Given the description of an element on the screen output the (x, y) to click on. 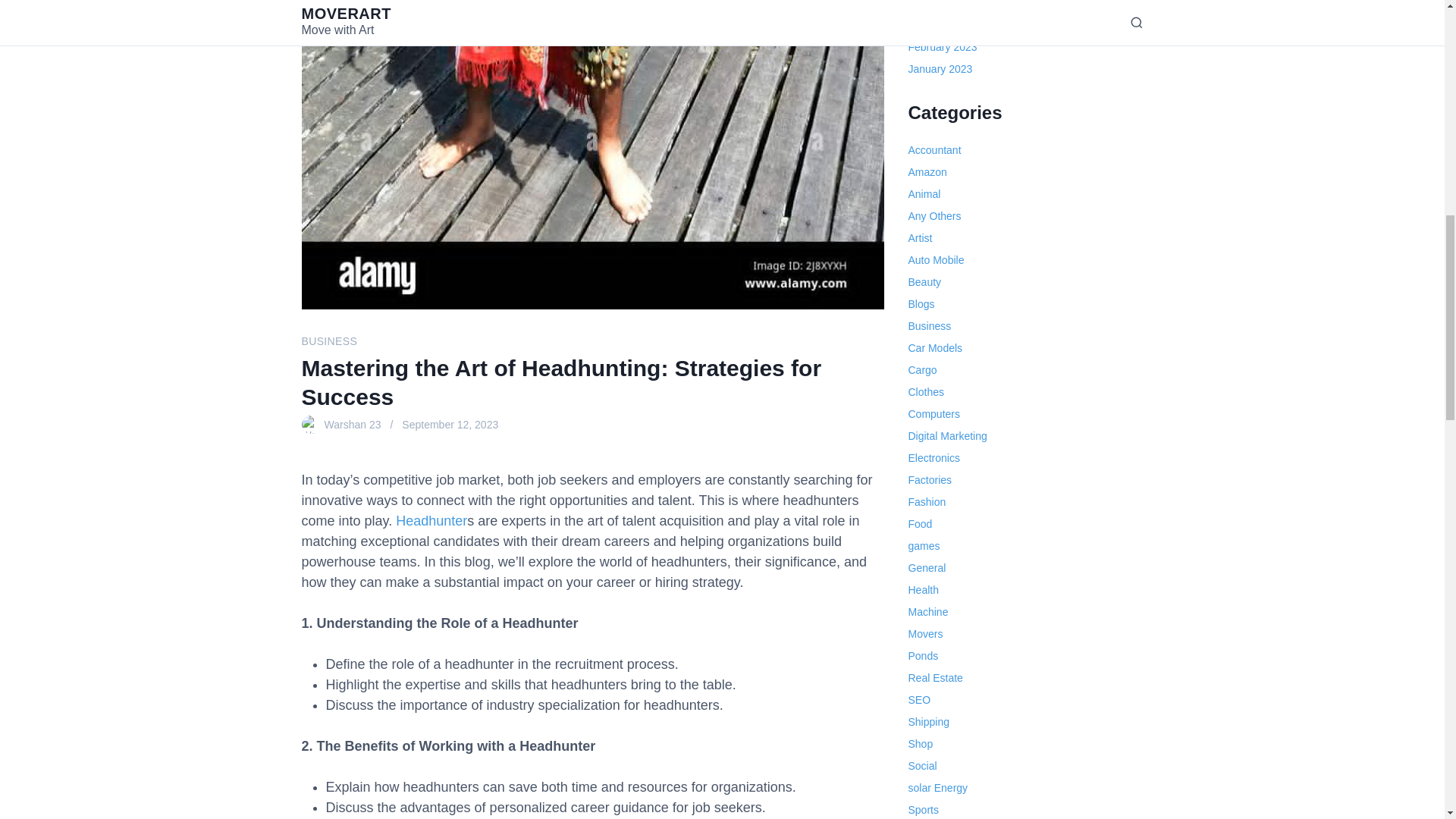
BUSINESS (329, 340)
June 2023 (933, 4)
Warshan 23 (352, 424)
Headhunter (431, 520)
